Given the description of an element on the screen output the (x, y) to click on. 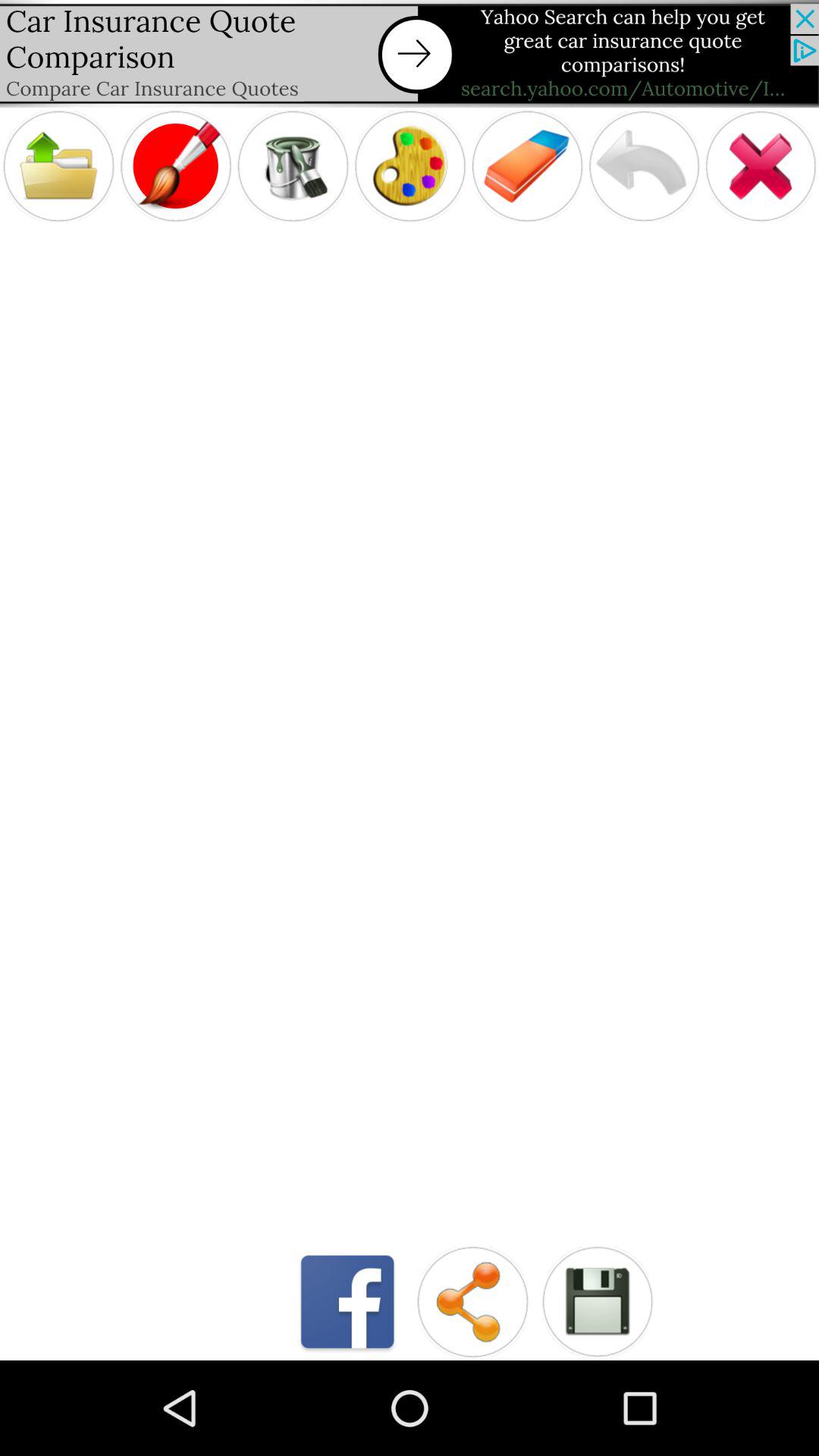
share to facebook (347, 1301)
